Given the description of an element on the screen output the (x, y) to click on. 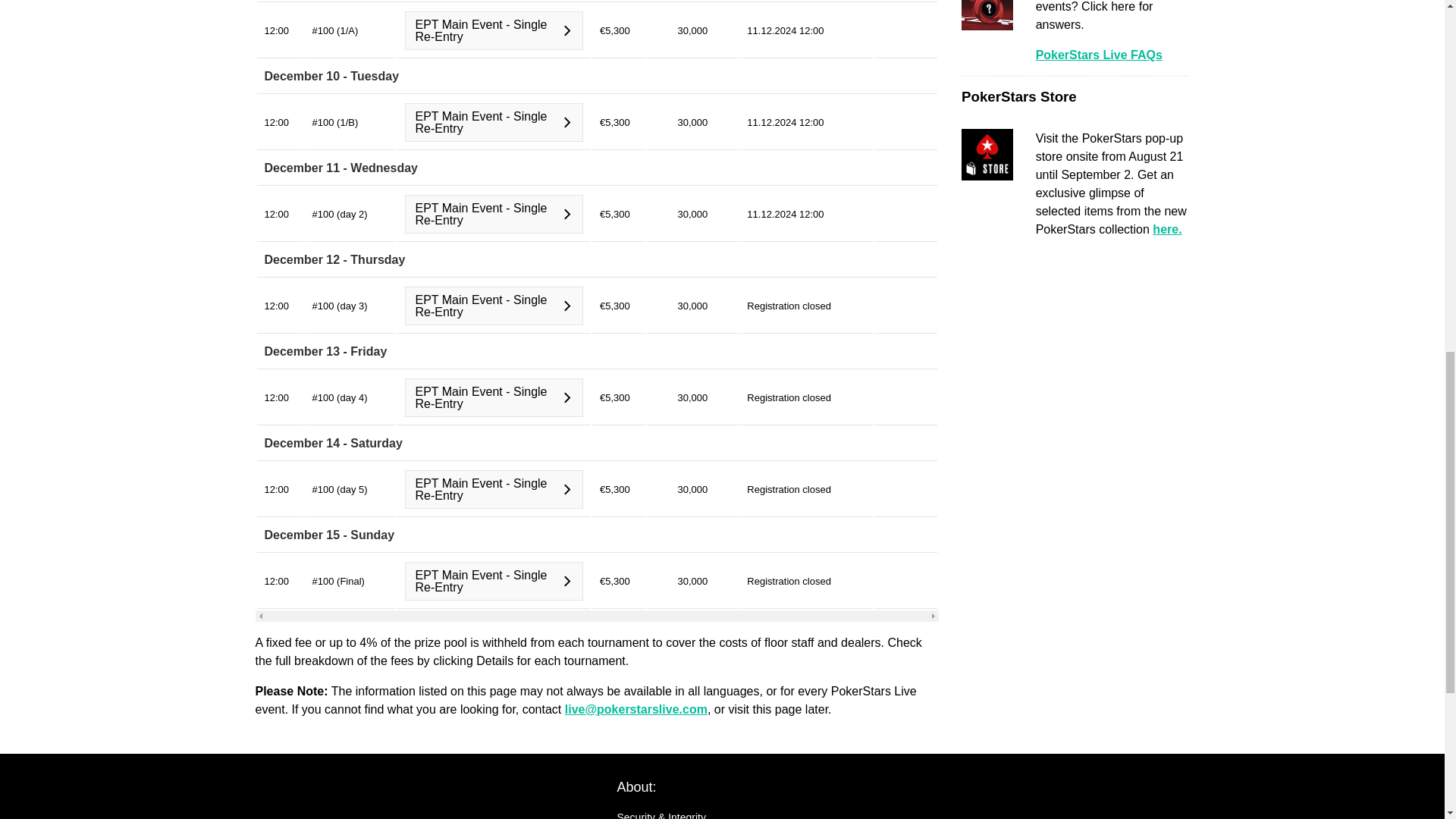
EPT Main Event - Single Re-Entry (494, 213)
EPT Main Event - Single Re-Entry (494, 122)
EPT Main Event - Single Re-Entry (494, 397)
EPT Main Event - Single Re-Entry (494, 305)
EPT Main Event - Single Re-Entry (494, 30)
